Given the description of an element on the screen output the (x, y) to click on. 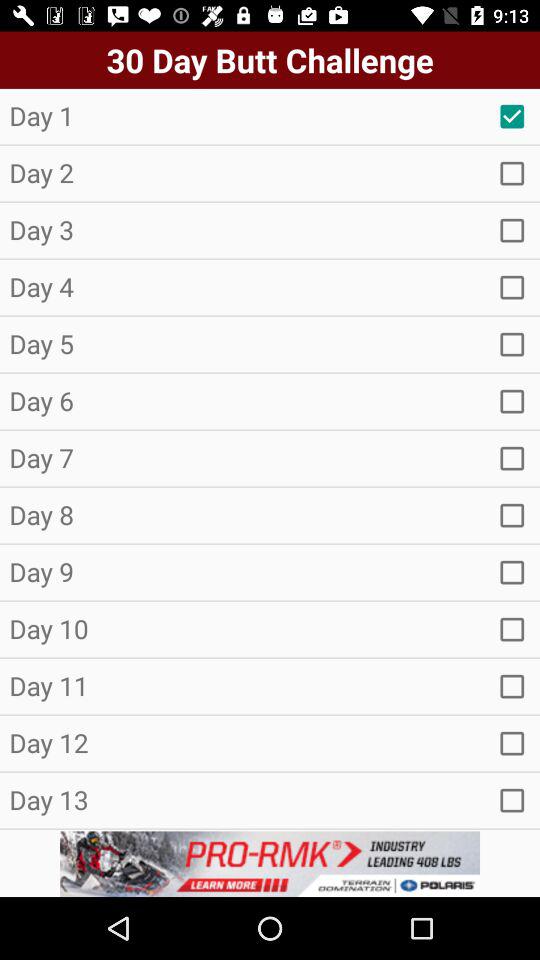
select day (512, 458)
